Given the description of an element on the screen output the (x, y) to click on. 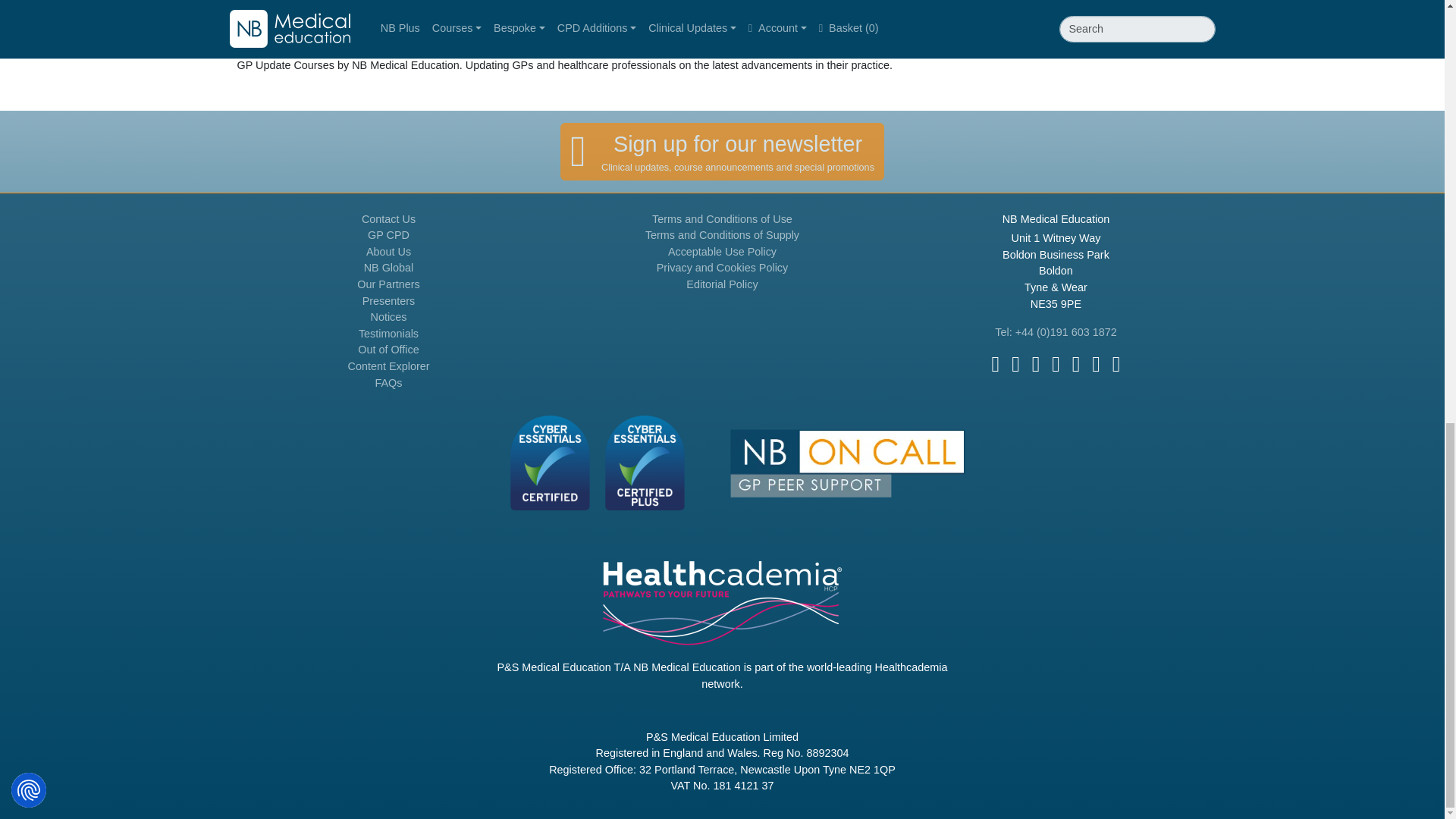
NB Medical Facebook (995, 363)
NB Medical Instagram (1075, 363)
NB Medical Spotify (1096, 363)
NB Medical LinkedIn (1055, 363)
NB Medical Podcasts (1116, 363)
NB Medical YouTube (1036, 363)
